Given the description of an element on the screen output the (x, y) to click on. 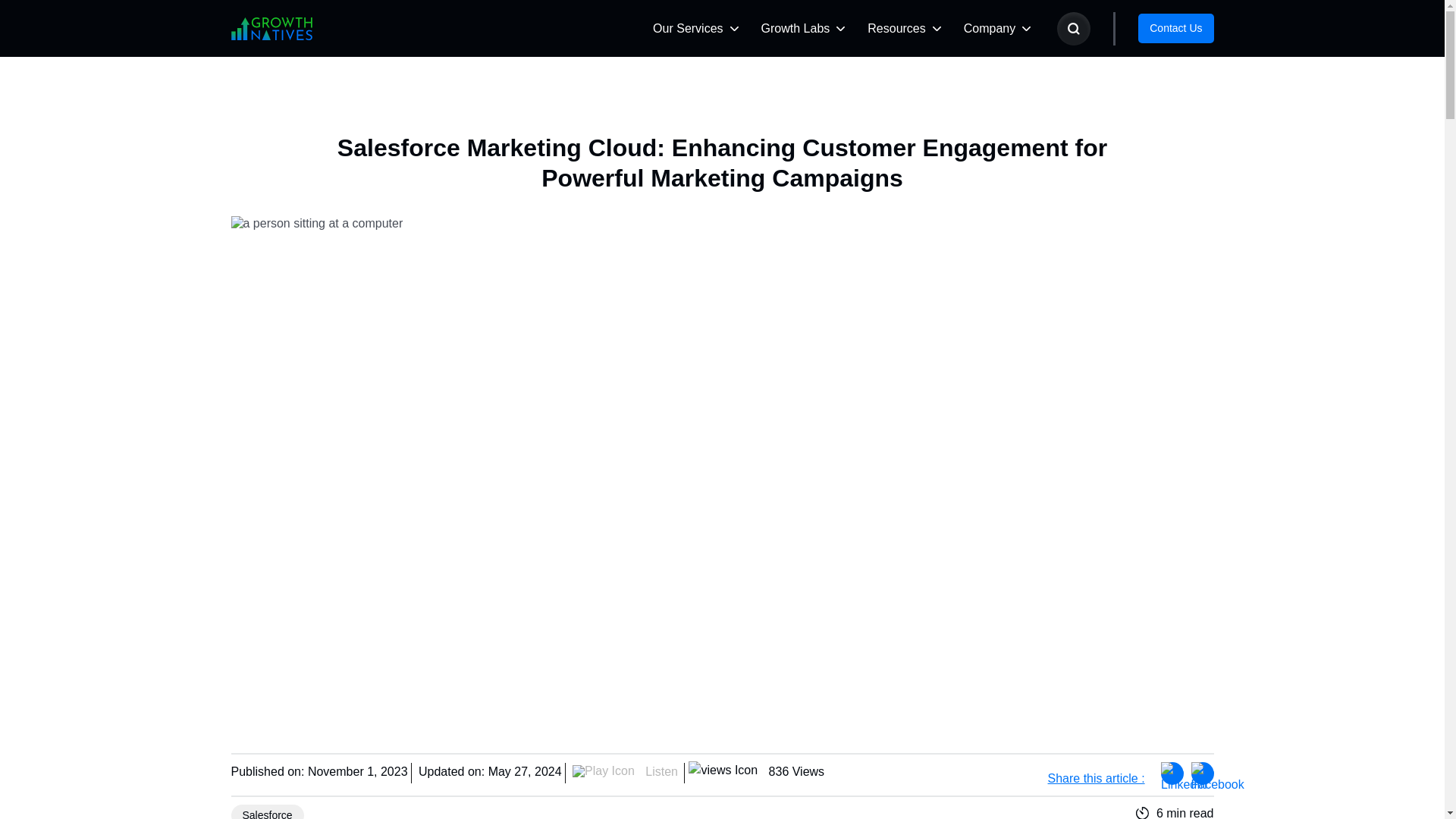
Our Services (687, 28)
